Given the description of an element on the screen output the (x, y) to click on. 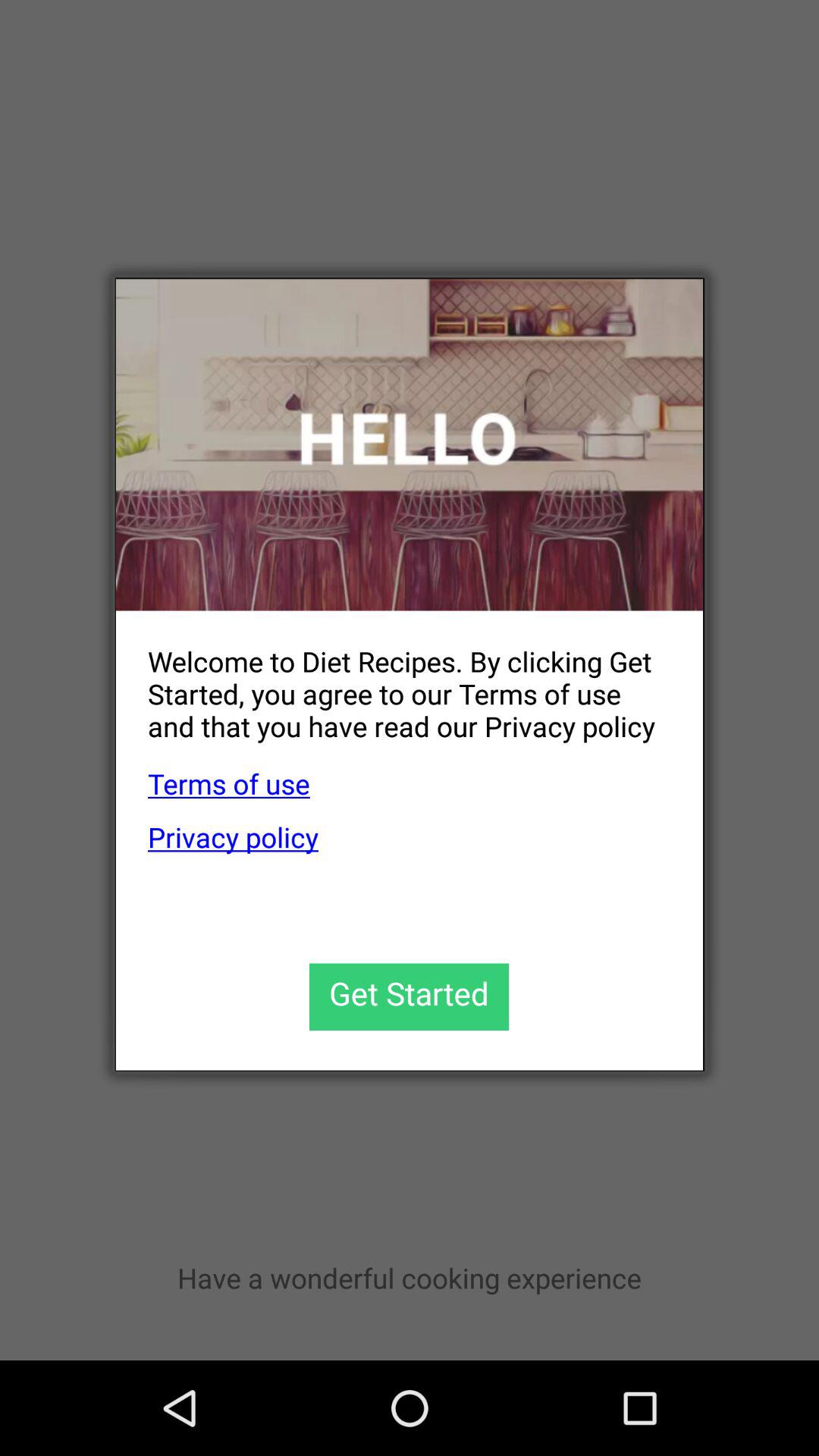
click to continue to use app (409, 996)
